Given the description of an element on the screen output the (x, y) to click on. 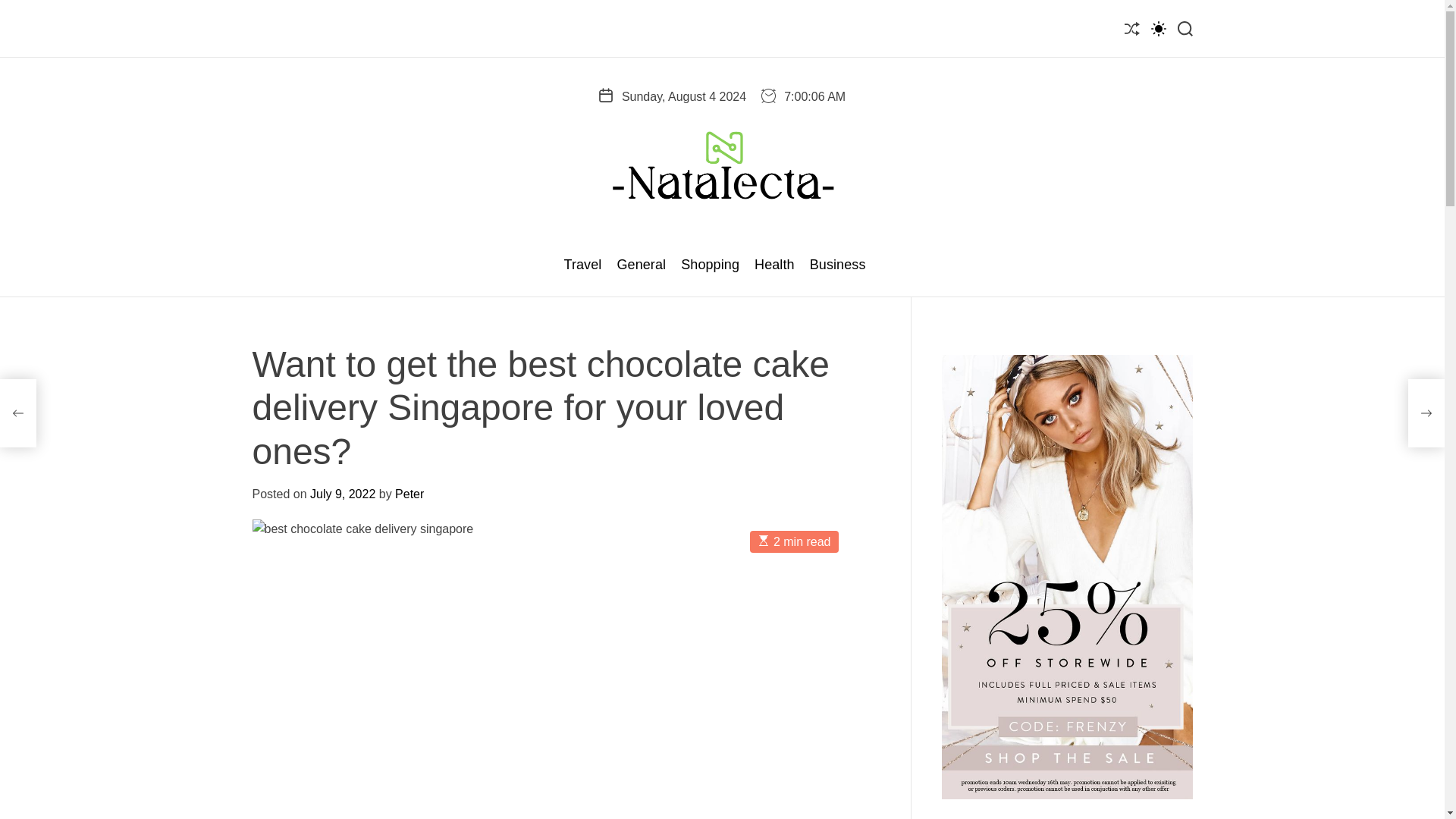
Shopping (710, 265)
General (640, 265)
Health (774, 265)
July 9, 2022 (342, 493)
Business (837, 265)
Travel (582, 265)
Peter (408, 493)
